Given the description of an element on the screen output the (x, y) to click on. 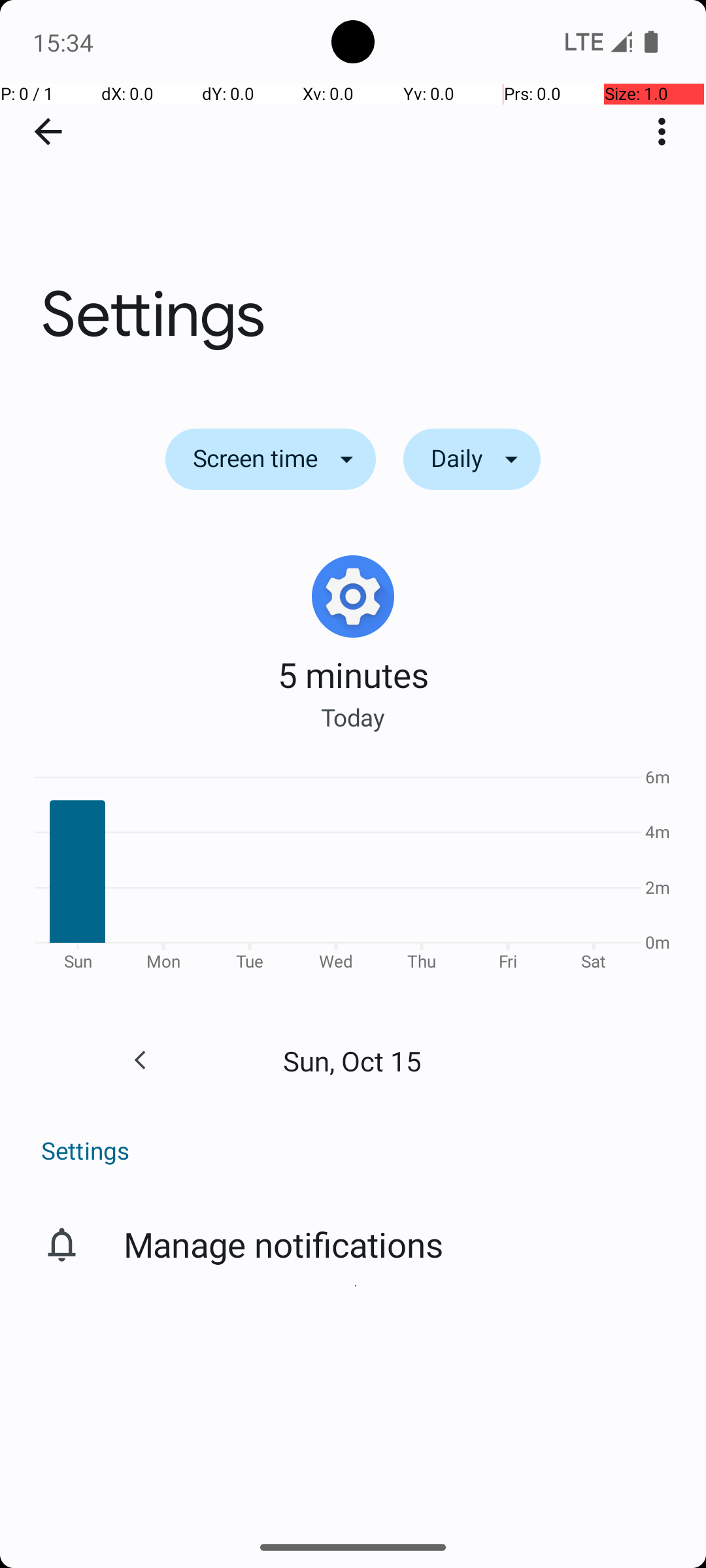
5 minutes Element type: android.widget.TextView (353, 674)
